Given the description of an element on the screen output the (x, y) to click on. 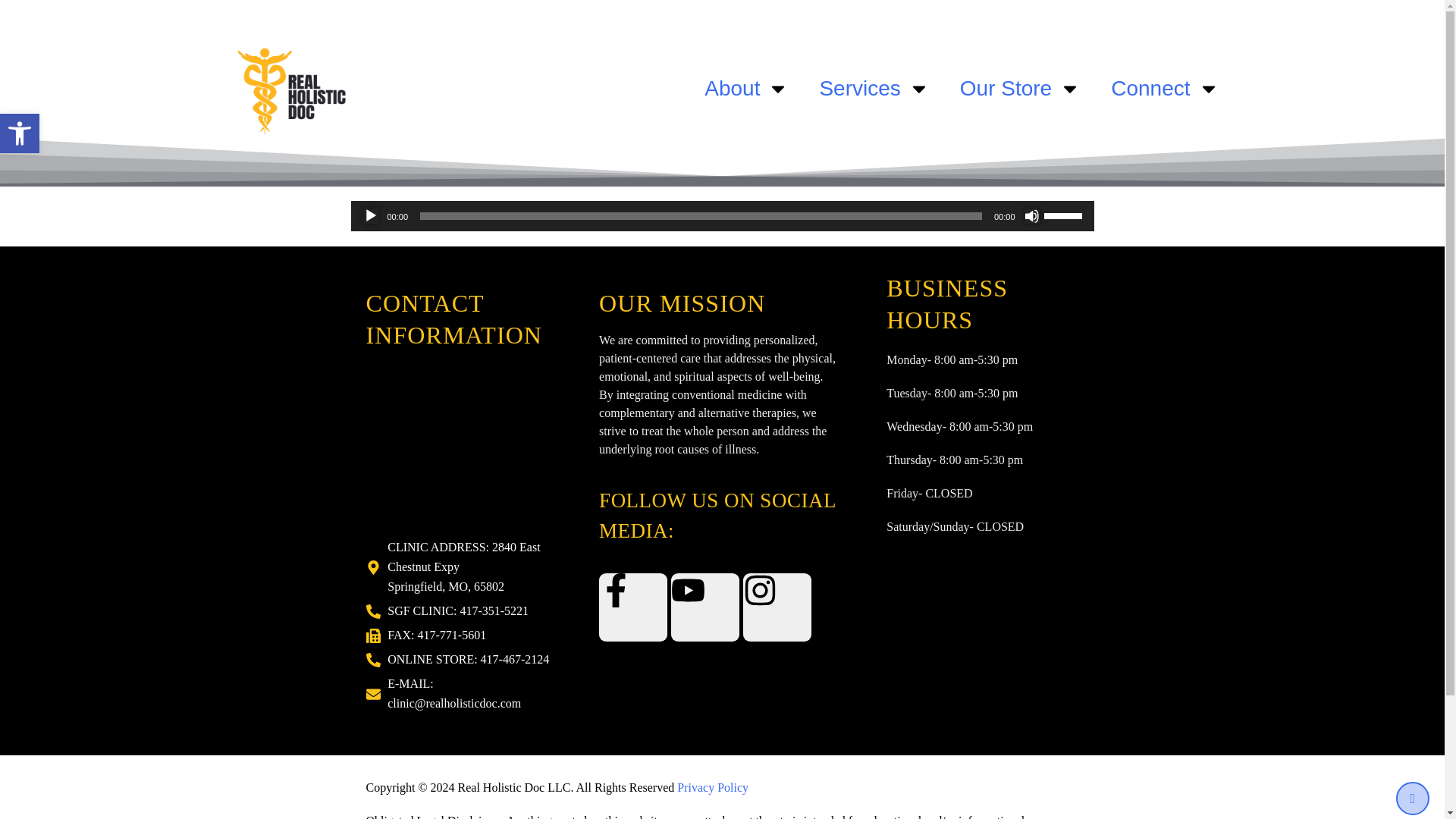
About (745, 87)
Light Background (19, 133)
High Contrast (873, 87)
Decrease Text (19, 133)
Negative Contrast (1164, 87)
